Given the description of an element on the screen output the (x, y) to click on. 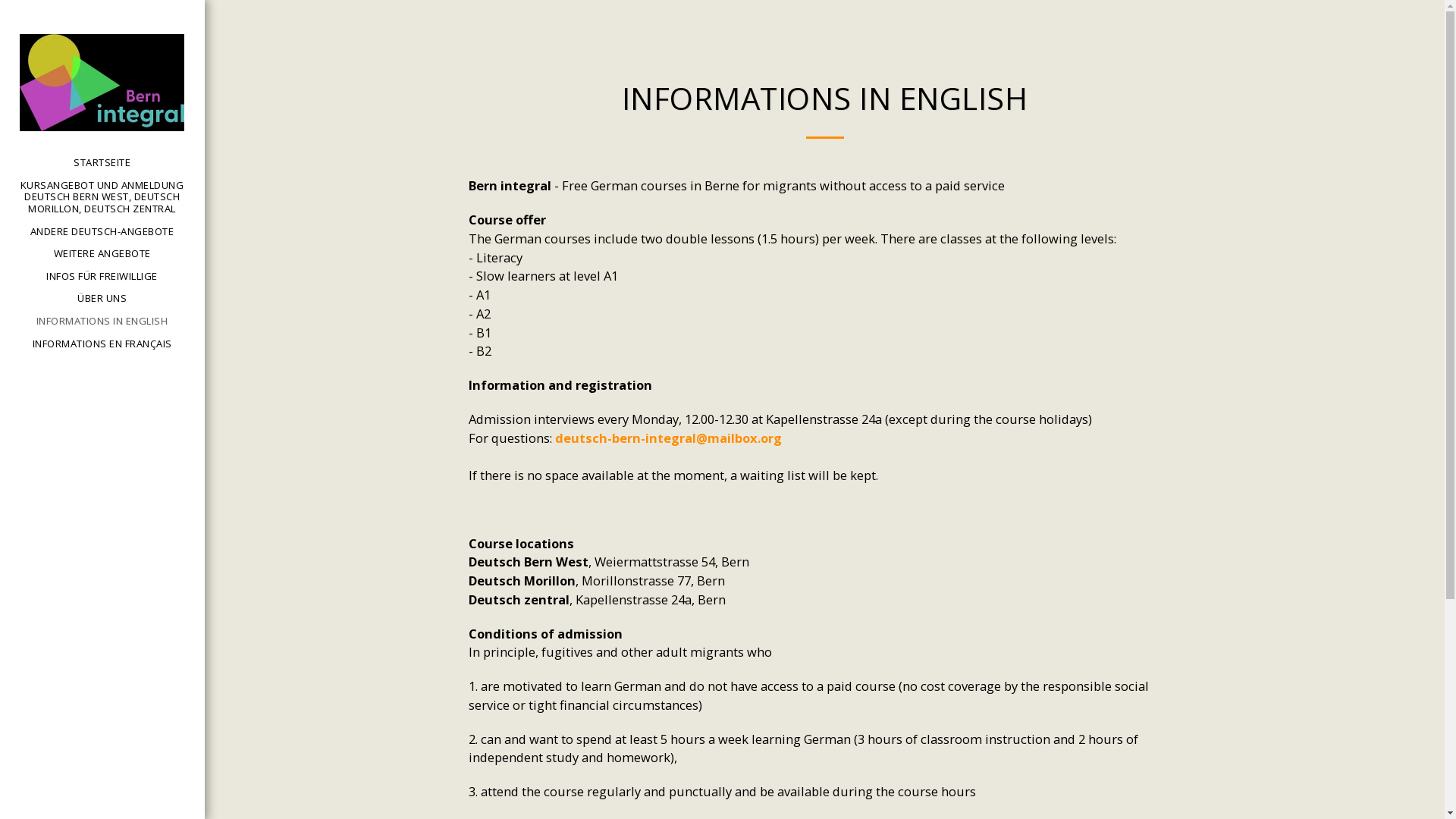
INFORMATIONS IN ENGLISH Element type: text (102, 321)
ANDERE DEUTSCH-ANGEBOTE Element type: text (102, 231)
STARTSEITE Element type: text (101, 163)
WEITERE ANGEBOTE Element type: text (101, 254)
deutsch-bern-integral@mailbox.org Element type: text (668, 437)
